Given the description of an element on the screen output the (x, y) to click on. 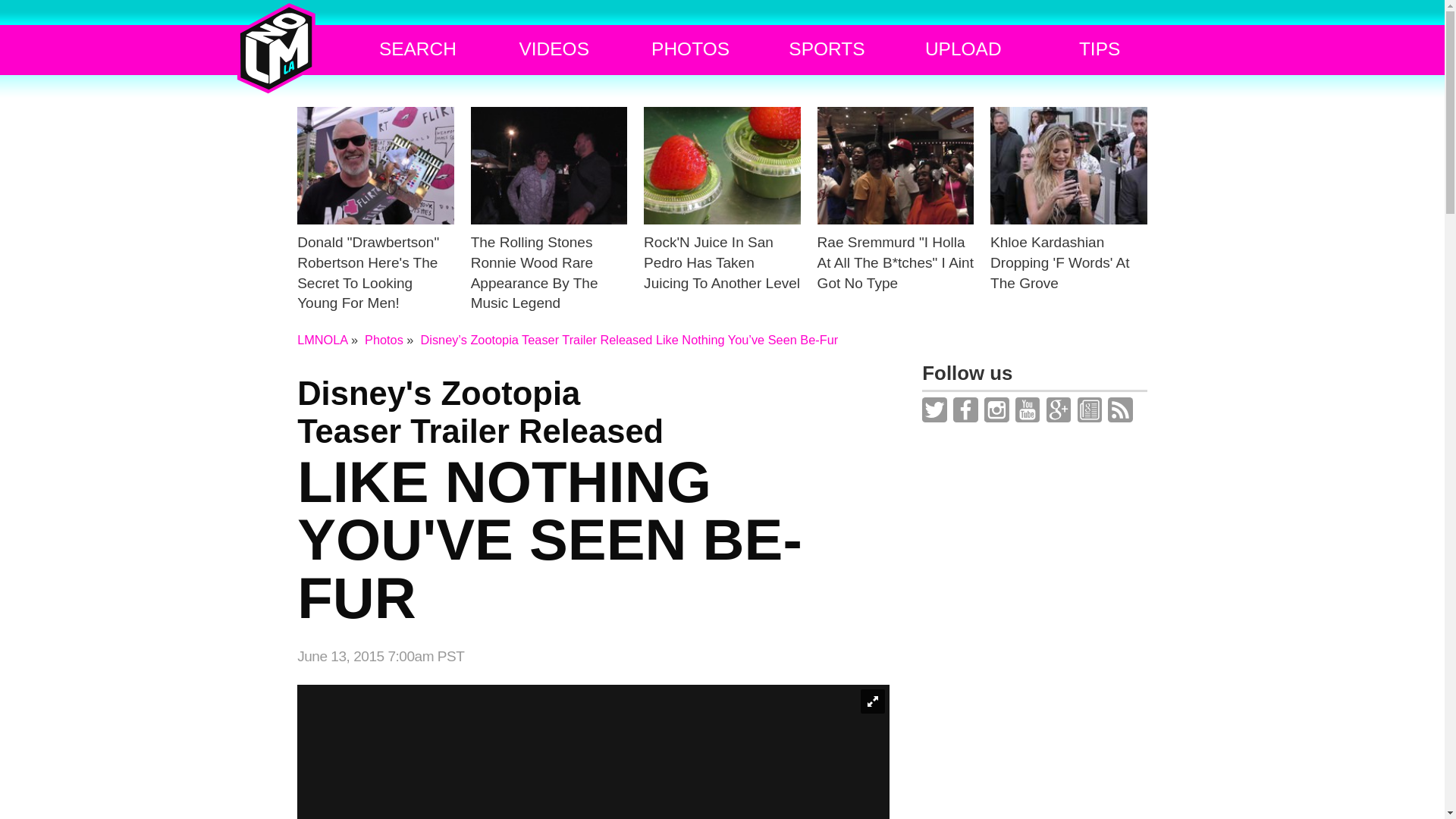
TIPS (1099, 49)
SPORTS (826, 49)
Khloe Kardashian Dropping 'F Words' At The Grove (1068, 225)
RockN Juice In San Pedro Has Taken Juicing To Another Level (721, 225)
Rock'N Juice In San Pedro Has Taken Juicing To Another Level (721, 225)
Khloe Kardashian Dropping F Words At The Grove  (1068, 225)
PHOTOS (689, 49)
Photos (384, 339)
LMNOLA (322, 339)
SEARCH (417, 49)
VIDEOS (553, 49)
UPLOAD (963, 49)
LMNOLA (322, 339)
Photos (384, 339)
